Given the description of an element on the screen output the (x, y) to click on. 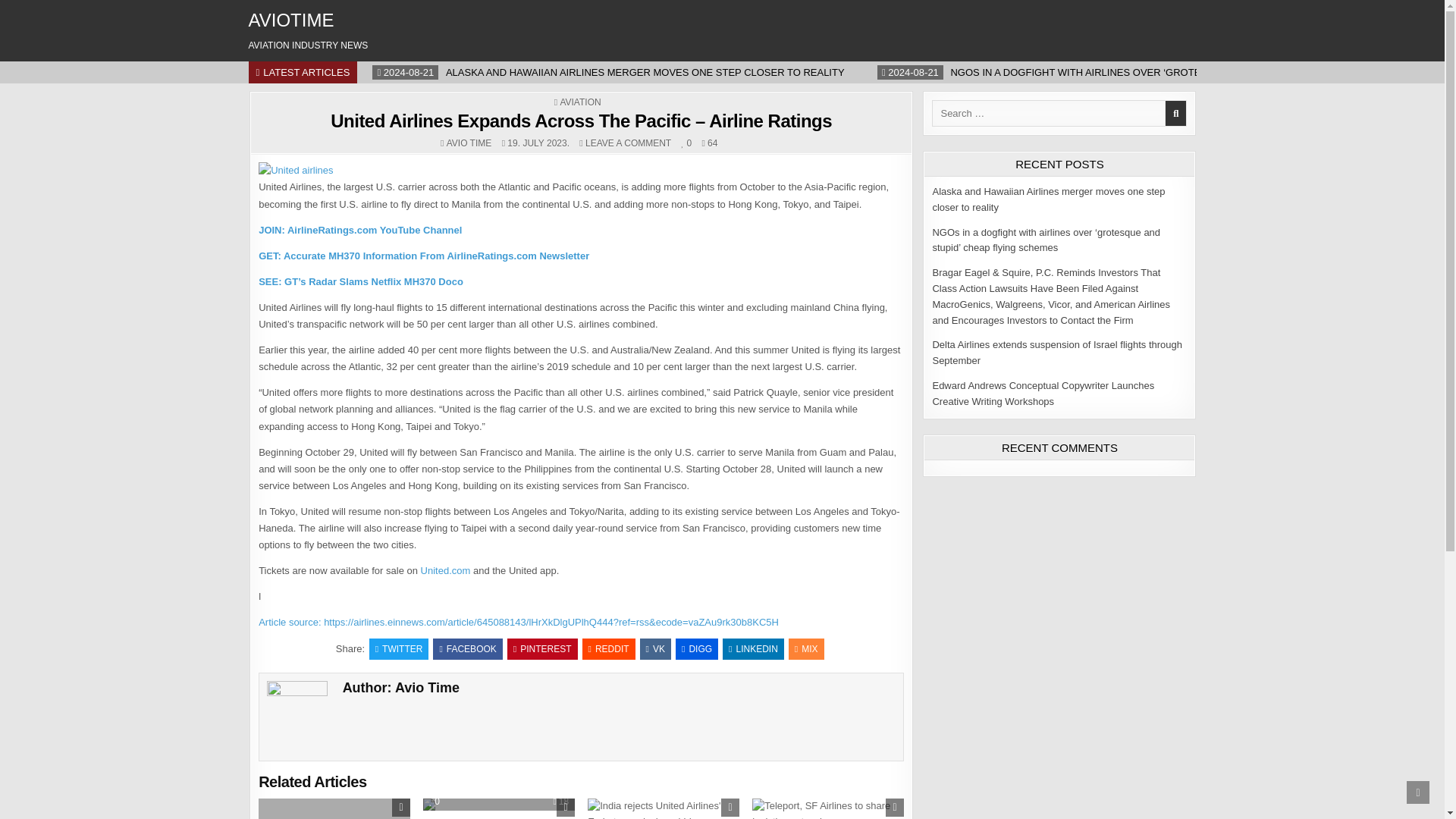
AVIO TIME (469, 143)
United.com (445, 570)
AVIOTIME (291, 19)
VK (655, 649)
TWITTER (399, 649)
PINTEREST (542, 649)
REDDIT (608, 649)
0 (687, 143)
FACEBOOK (467, 649)
